Given the description of an element on the screen output the (x, y) to click on. 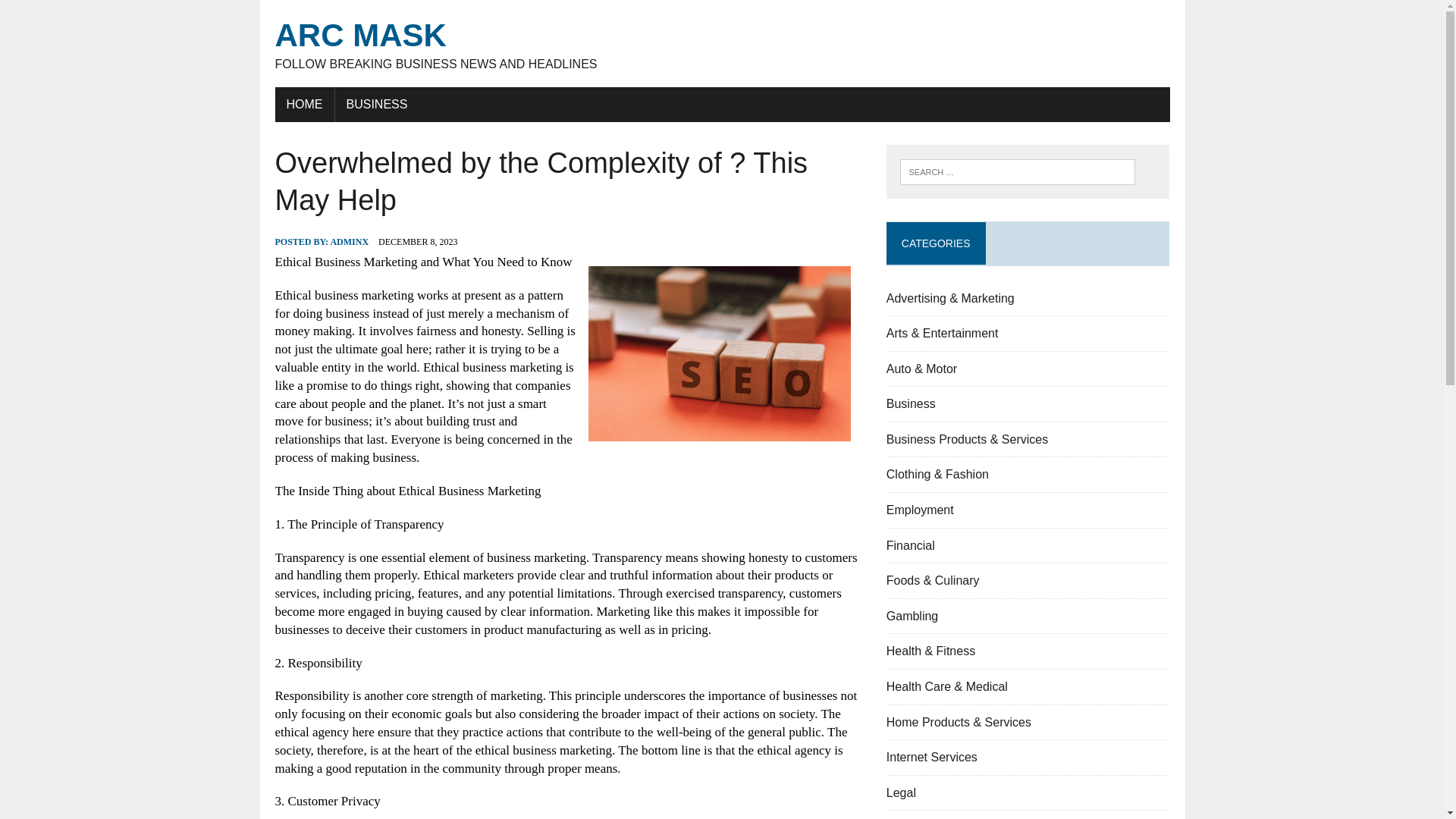
Arc Mask (722, 43)
HOME (304, 104)
Financial (910, 545)
Gambling (911, 615)
Internet Services (931, 757)
ADMINX (349, 241)
Search (722, 43)
BUSINESS (75, 14)
Business (376, 104)
